Given the description of an element on the screen output the (x, y) to click on. 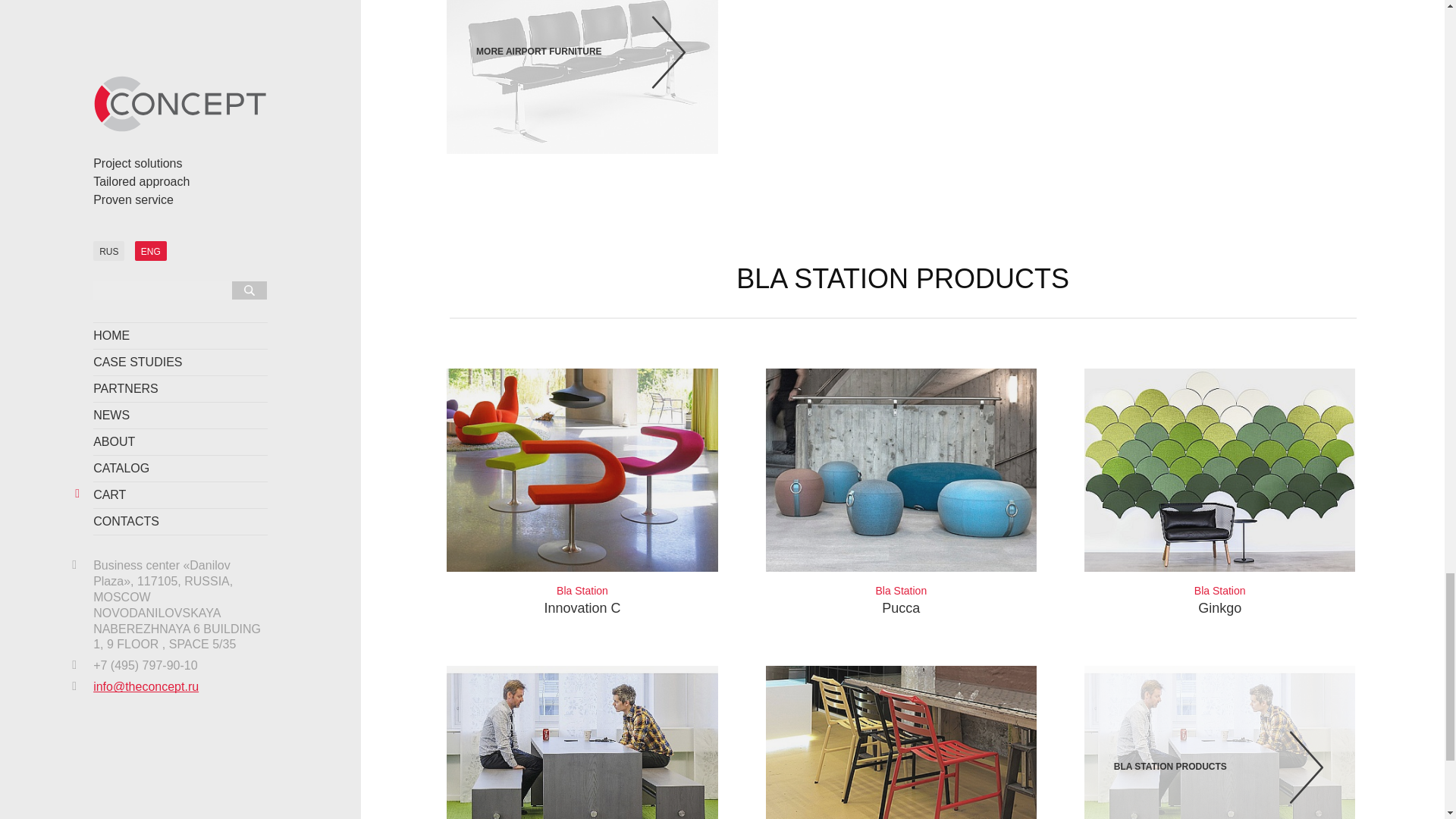
MORE AIRPORT FURNITURE (581, 492)
BLA STATION PRODUCTS (1219, 492)
 Send  (581, 76)
